Given the description of an element on the screen output the (x, y) to click on. 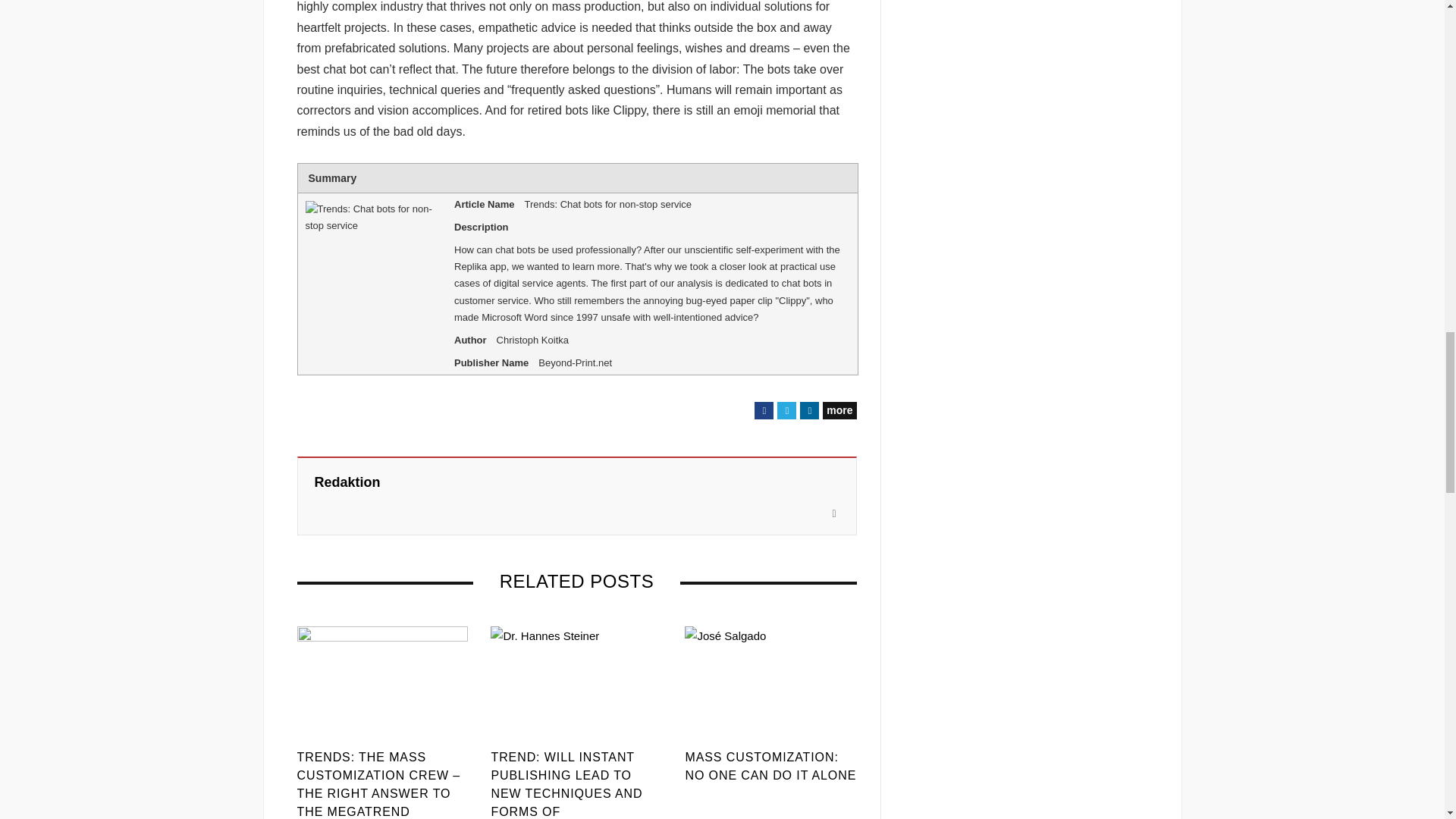
Posts by Redaktion (347, 482)
Share on LinkedIn (808, 410)
Redaktion (347, 482)
more (839, 410)
LinkedIn (808, 410)
Twitter (786, 410)
Share on Facebook (763, 410)
Facebook (763, 410)
Tweet It (786, 410)
MASS CUSTOMIZATION: NO ONE CAN DO IT ALONE (770, 766)
